Given the description of an element on the screen output the (x, y) to click on. 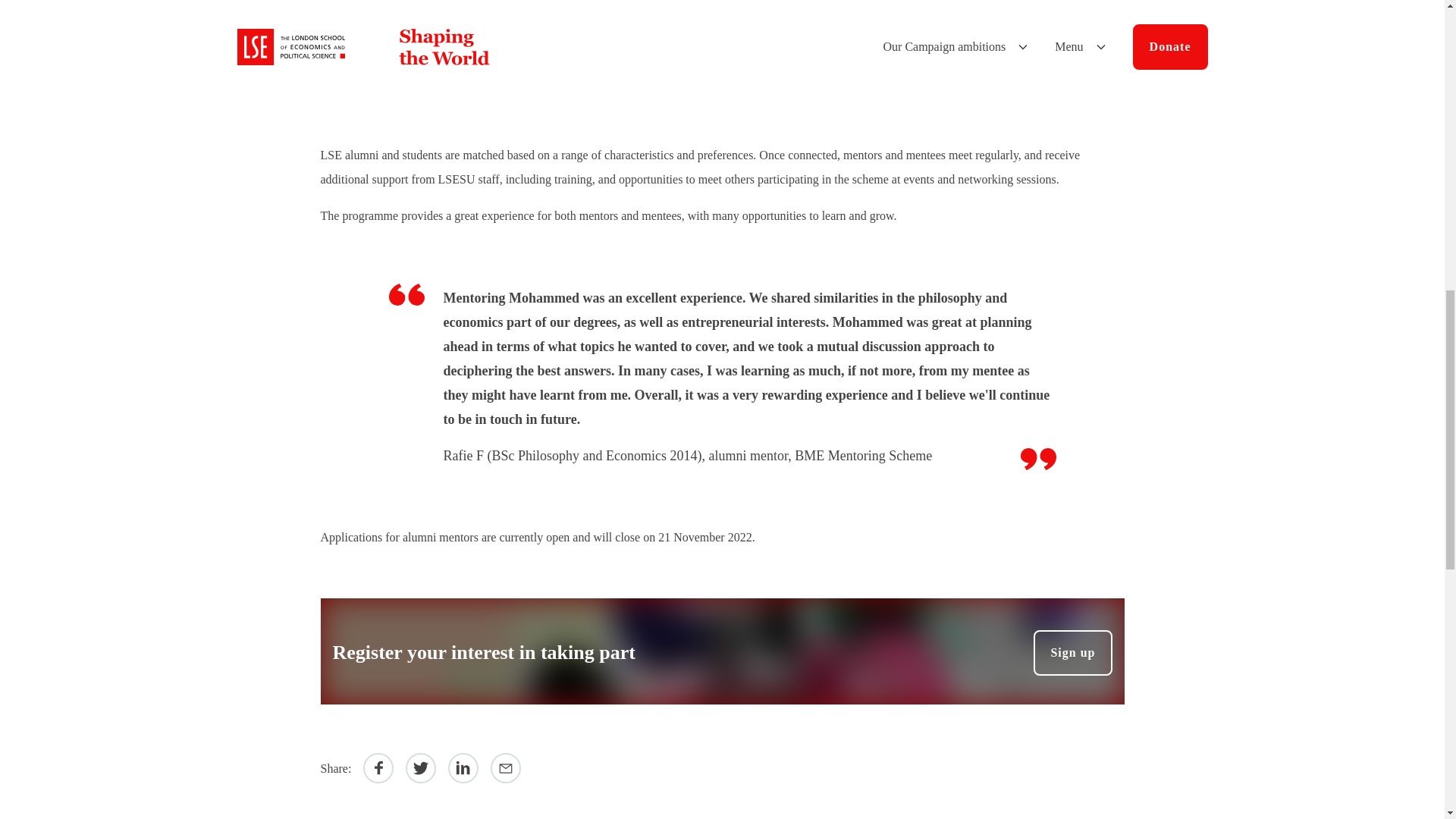
Twitter (420, 767)
Sign up (1072, 652)
Facebook (377, 767)
Email (505, 767)
Linkedin (463, 767)
